Given the description of an element on the screen output the (x, y) to click on. 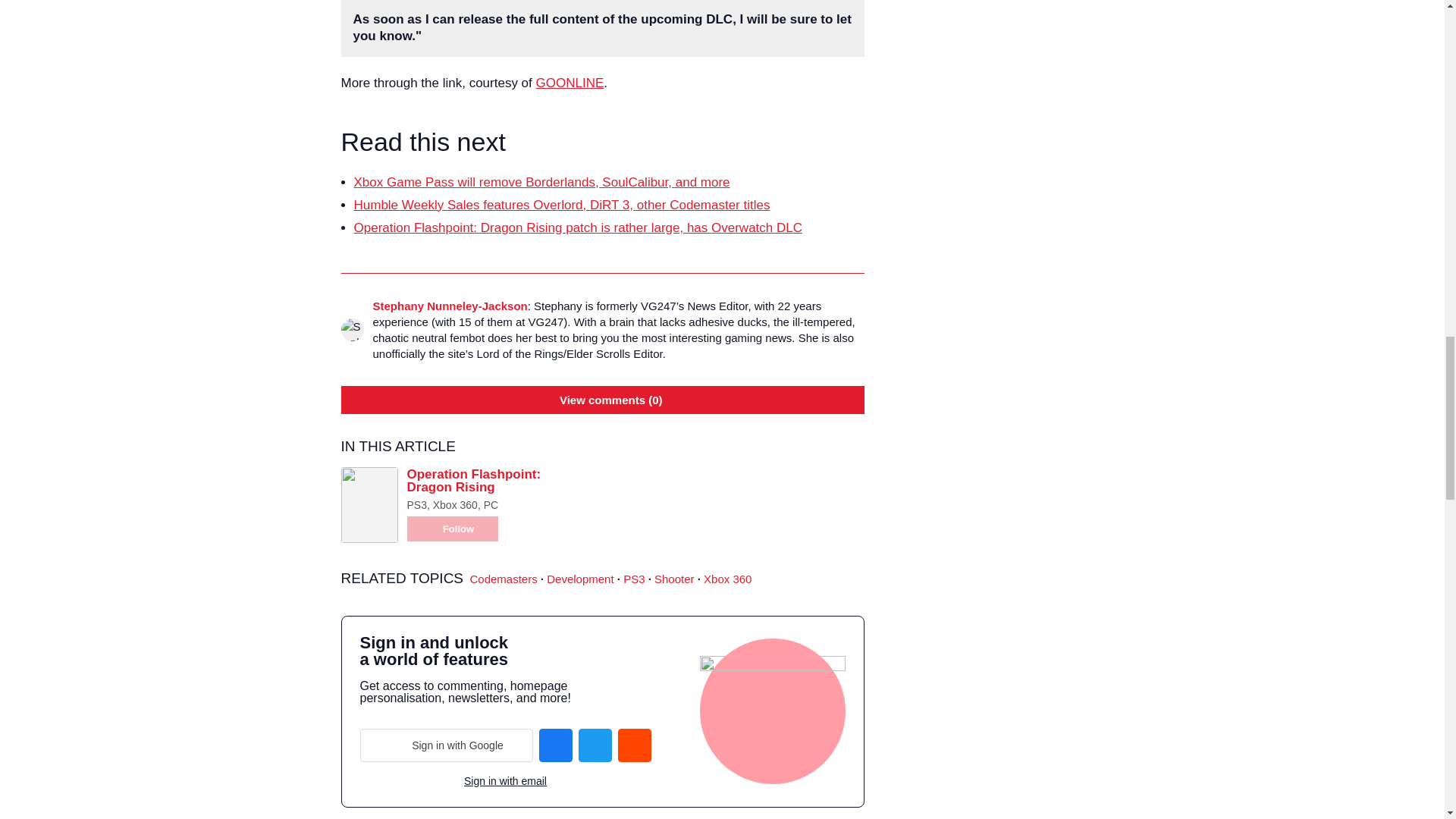
Follow Operation Flashpoint: Dragon Rising (451, 528)
Stephany Nunneley-Jackson (449, 305)
GOONLINE (569, 83)
